Given the description of an element on the screen output the (x, y) to click on. 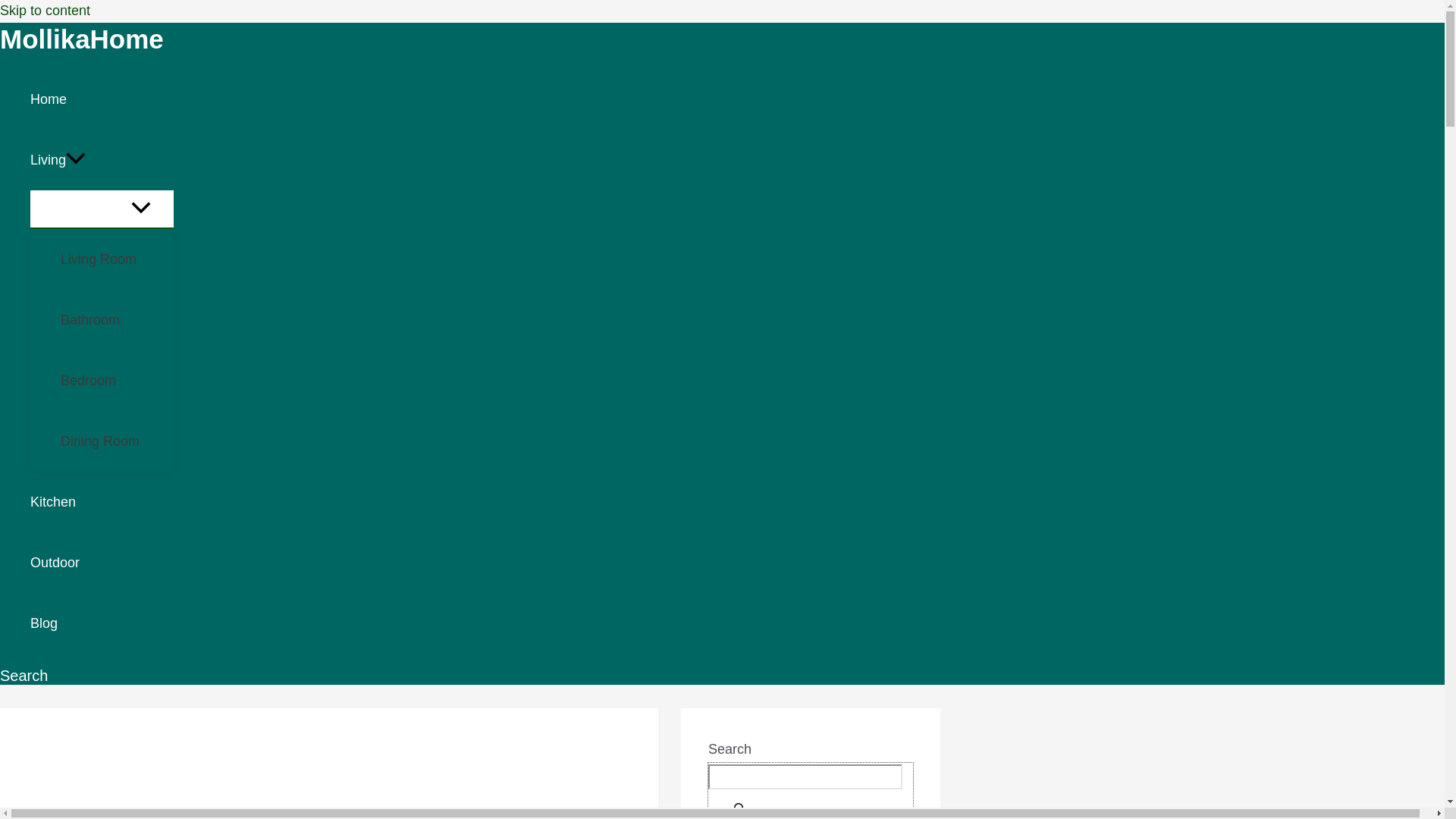
Skip to content (45, 10)
Search (24, 675)
Kitchen (101, 501)
Skip to content (45, 10)
Menu Toggle (101, 208)
Outdoor (101, 562)
Bathroom (117, 319)
Living Room (117, 259)
Blog (101, 622)
Home (101, 98)
